Given the description of an element on the screen output the (x, y) to click on. 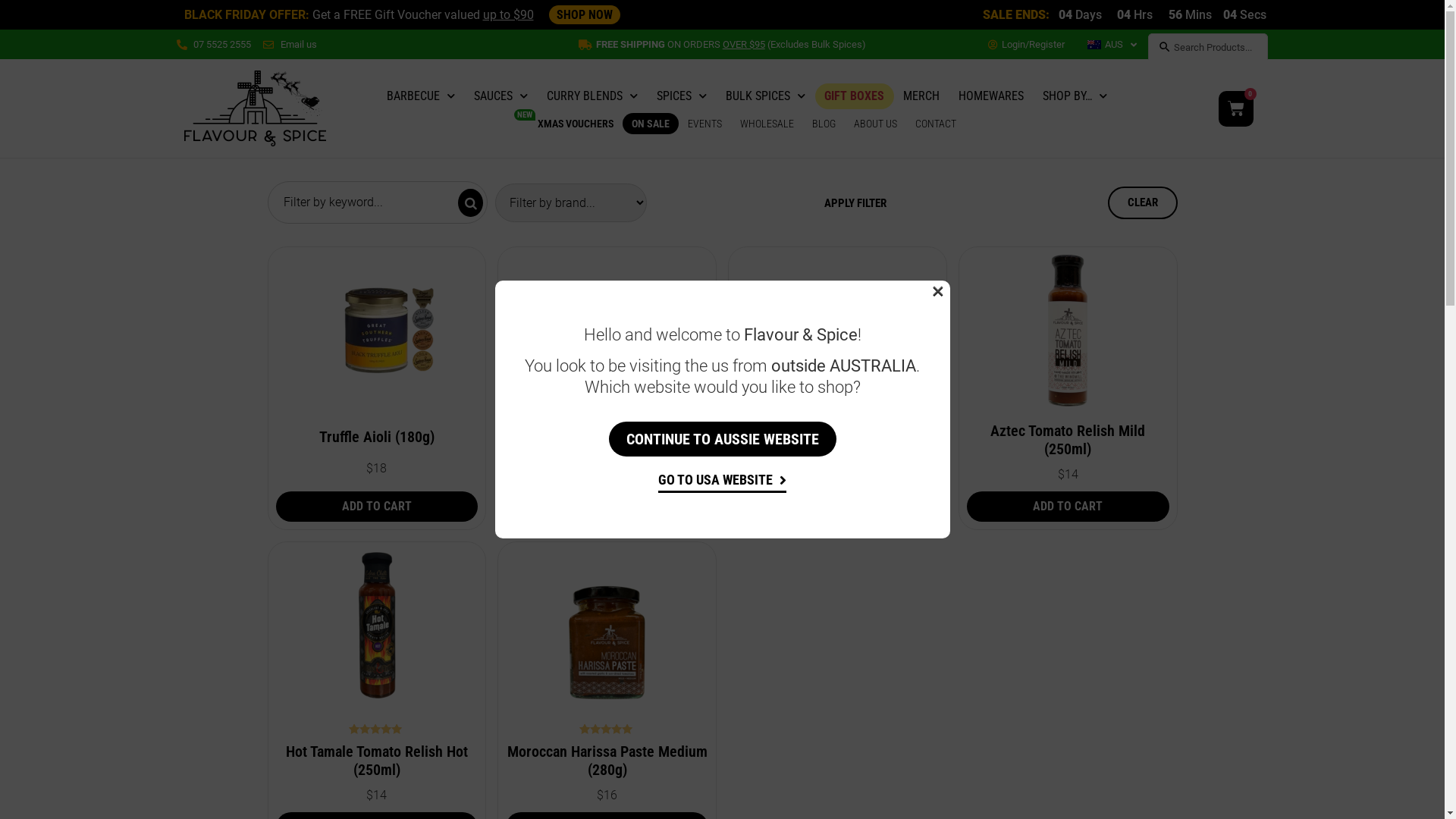
BULK SPICES Element type: text (765, 96)
SPICES Element type: text (681, 96)
MERCH Element type: text (921, 96)
ON SALE Element type: text (650, 122)
SHOP NOW Element type: text (584, 14)
07 5525 2555 Element type: text (213, 43)
0 Element type: text (1235, 108)
Truffle Aioli (180g) Element type: text (376, 436)
GIFT BOXES Element type: text (854, 96)
CONTACT Element type: text (935, 122)
ADD TO CART Element type: text (837, 506)
Email us Element type: text (289, 43)
SAUCES Element type: text (500, 96)
ADD TO CART Element type: text (377, 506)
HOMEWARES Element type: text (990, 96)
WHOLESALE Element type: text (767, 122)
BLOG Element type: text (823, 122)
Login/Register Element type: text (1026, 44)
CURRY BLENDS Element type: text (591, 96)
Hot Tamale Tomato Relish Hot (250ml) Element type: text (376, 760)
XMAS VOUCHERS Element type: text (575, 122)
ADD TO CART Element type: text (1067, 506)
EVENTS Element type: text (704, 122)
CONTINUE TO AUSSIE WEBSITE Element type: text (721, 438)
AUS Element type: text (1111, 44)
CLEAR Element type: text (1141, 202)
ABOUT US Element type: text (875, 122)
Aztec Tomato Relish Mild (250ml) Element type: text (1067, 439)
Moroccan Harissa Paste Medium (280g) Element type: text (607, 760)
Chilli Chai Jam Medium (330g) Element type: text (837, 436)
BARBECUE Element type: text (420, 96)
GO TO USA WEBSITE Element type: text (722, 482)
ADD TO CART Element type: text (606, 506)
APPLY FILTER Element type: text (854, 202)
BLACK FRIDAY OFFER: Get a FREE Gift Voucher valued up to $90 Element type: text (358, 14)
